Given the description of an element on the screen output the (x, y) to click on. 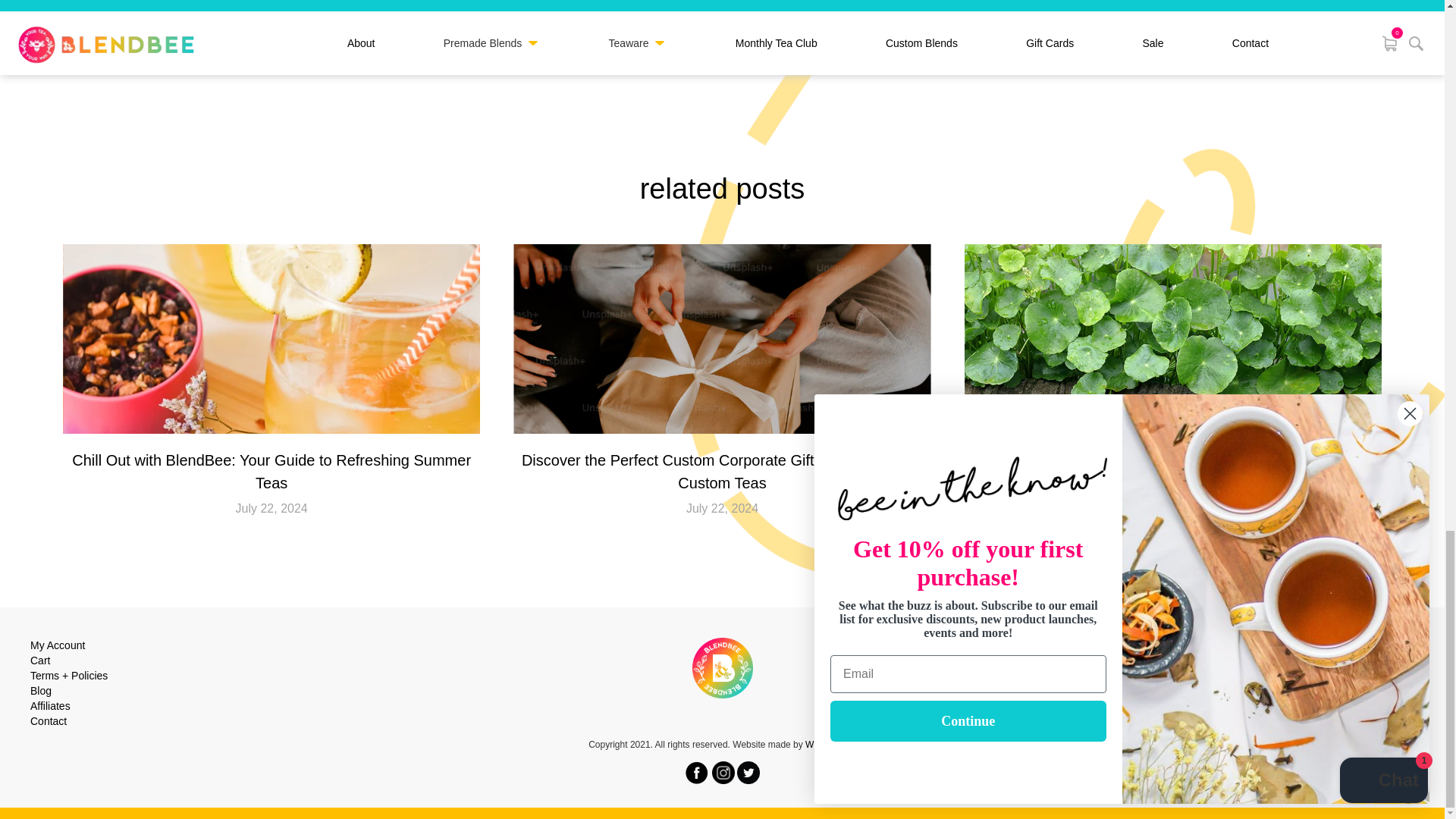
Contact (48, 720)
My Account (57, 645)
Monthly Tea Club (1372, 660)
Cart (39, 660)
FAQs (1400, 705)
Custom Blends (1377, 645)
Blog (40, 690)
Affiliates (49, 705)
Wink Digital (829, 744)
Teaware (1393, 690)
Premade Blends (1374, 675)
